Given the description of an element on the screen output the (x, y) to click on. 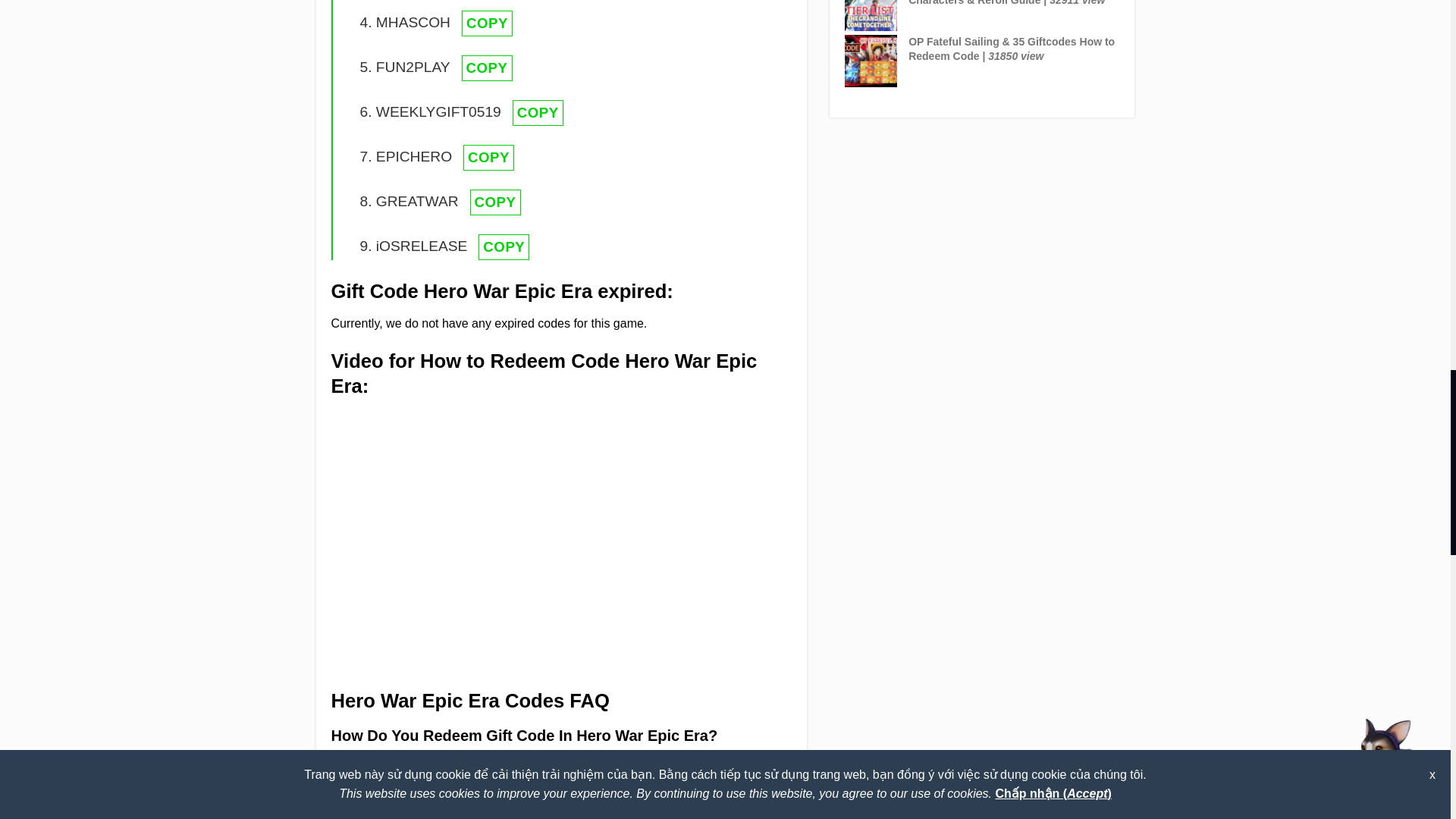
COPY (488, 157)
COPY (495, 202)
COPY (486, 23)
COPY (504, 247)
COPY (537, 112)
COPY (486, 68)
